Given the description of an element on the screen output the (x, y) to click on. 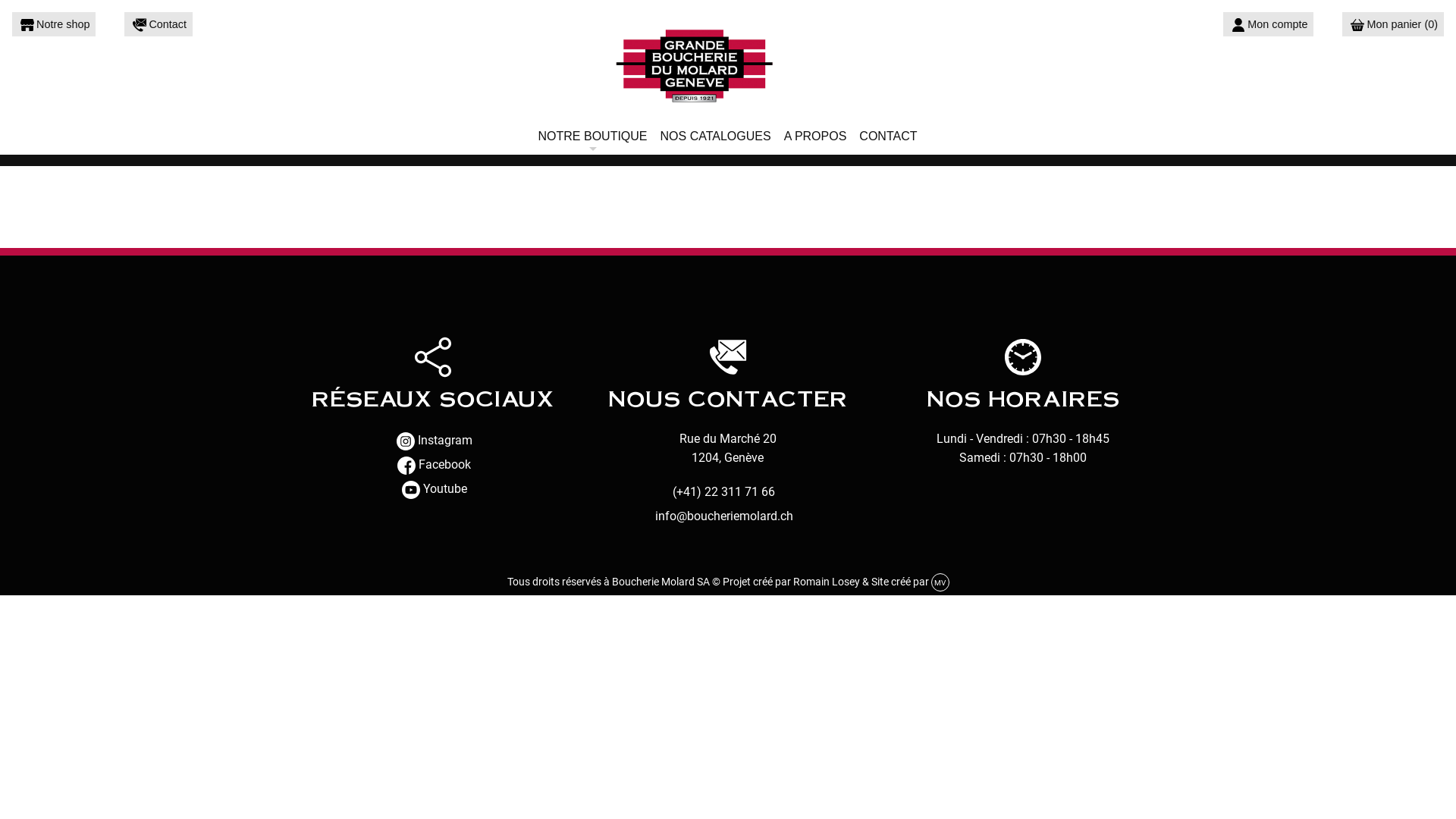
(+41) 22 311 71 66 Element type: text (723, 492)
Facebook Element type: text (432, 465)
Instagram Element type: text (432, 441)
NOS CATALOGUES Element type: text (716, 135)
Cliquez pour aller sur la page d'accueil Element type: hover (727, 64)
Notre shop Element type: text (53, 24)
Contact Element type: text (158, 24)
CONTACT Element type: text (888, 135)
info@boucheriemolard.ch Element type: text (723, 516)
Mon panier (0) Element type: text (1392, 24)
MV Element type: text (940, 582)
NOTRE BOUTIQUE Element type: text (593, 135)
A PROPOS Element type: text (815, 135)
Youtube Element type: text (432, 489)
Mon compte Element type: text (1268, 24)
